Given the description of an element on the screen output the (x, y) to click on. 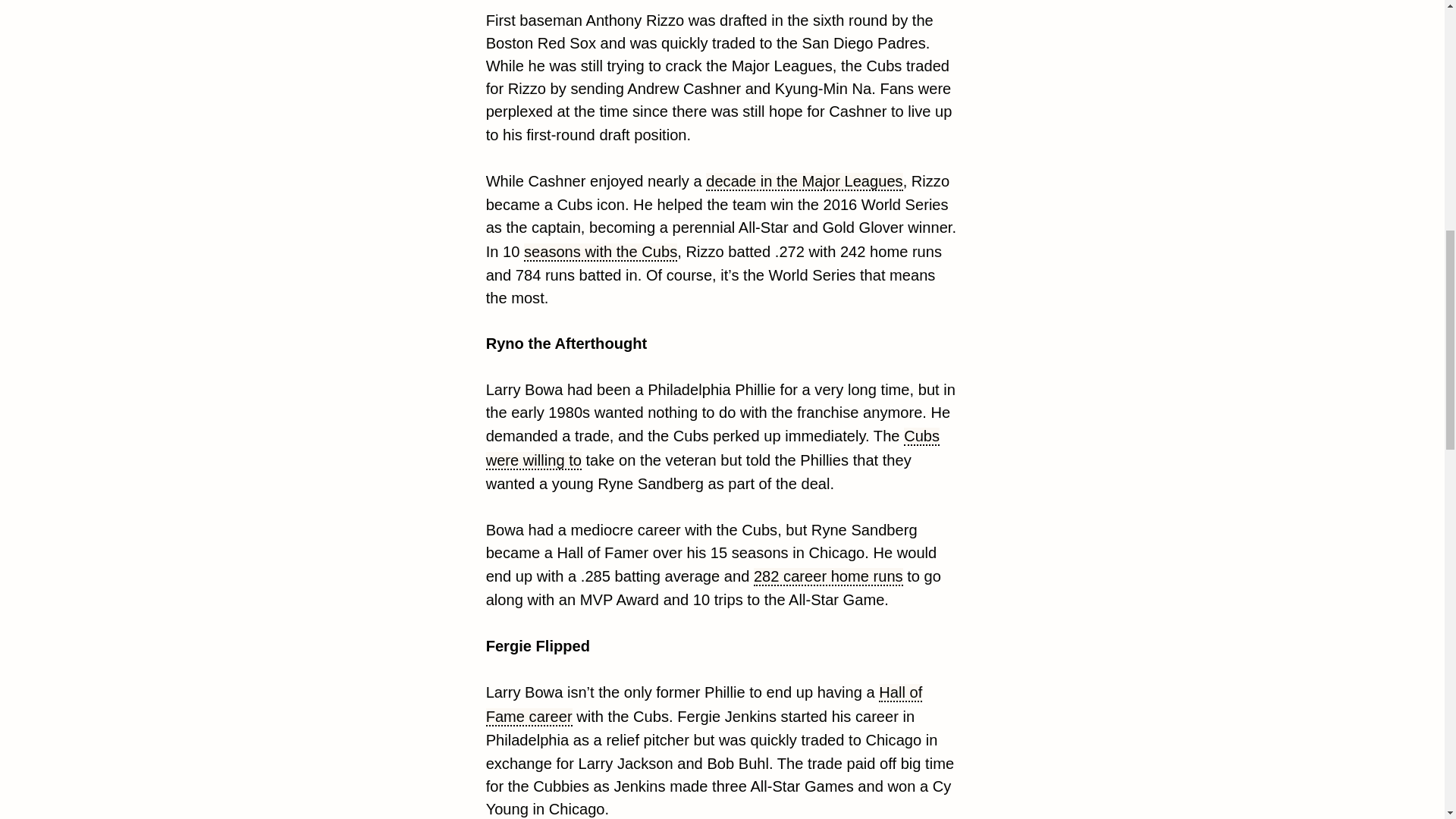
seasons with the Cubs (600, 252)
282 career home runs (828, 577)
Hall of Fame career (704, 704)
Cubs were willing to (712, 448)
decade in the Major Leagues (804, 181)
